Given the description of an element on the screen output the (x, y) to click on. 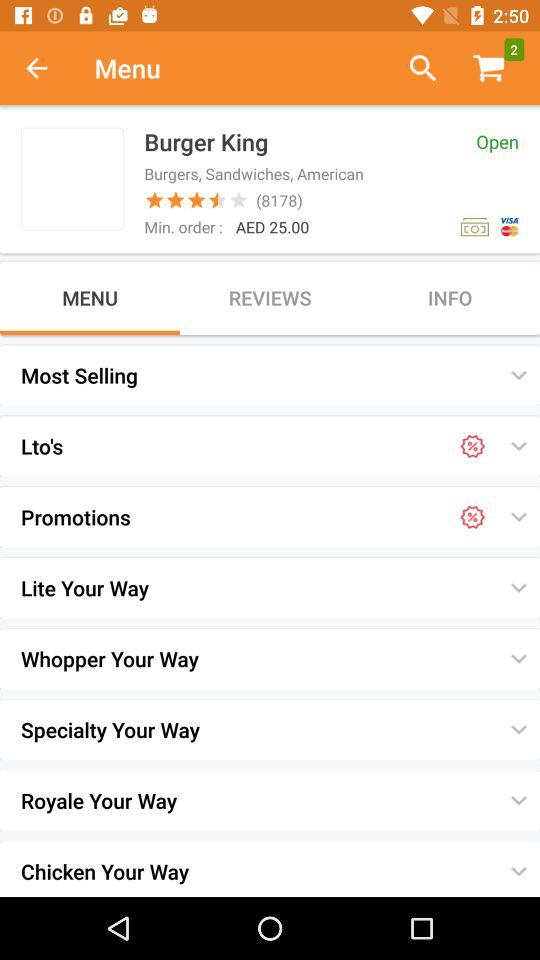
search menu (414, 68)
